Given the description of an element on the screen output the (x, y) to click on. 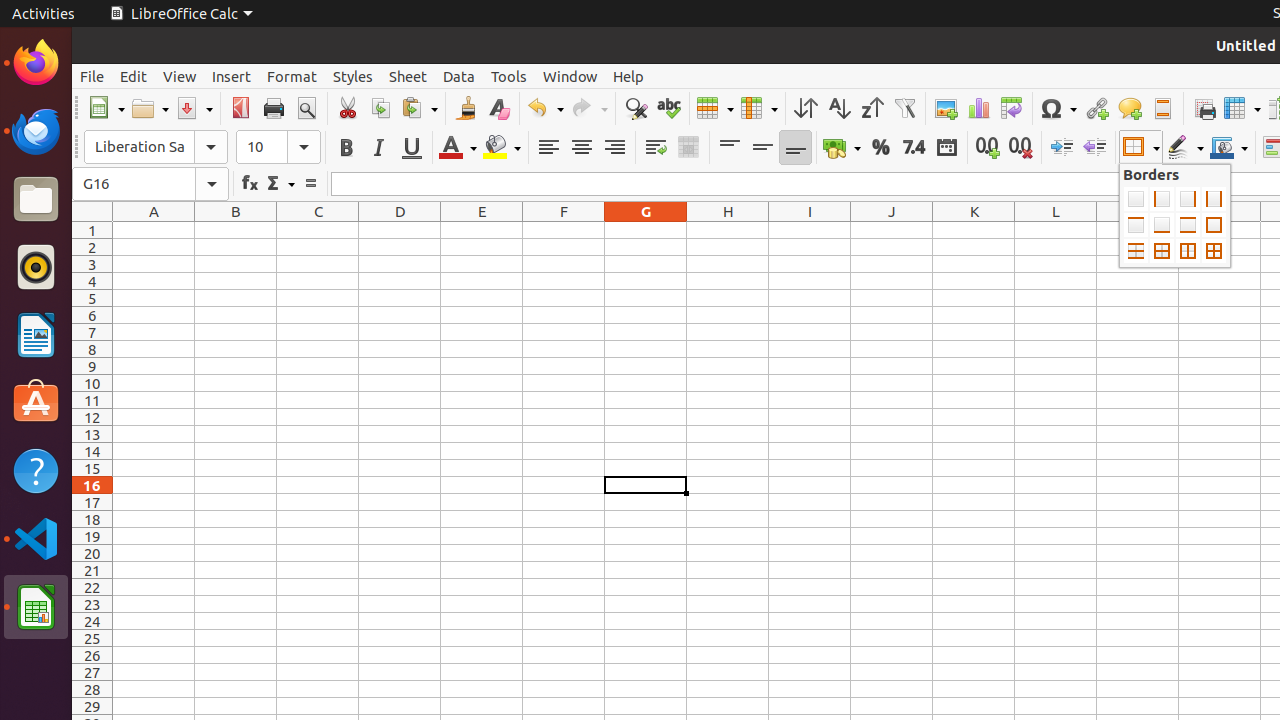
F1 Element type: table-cell (564, 230)
View Element type: menu (179, 76)
Row Element type: push-button (715, 108)
Formula Element type: push-button (310, 183)
Undo Element type: push-button (545, 108)
